Given the description of an element on the screen output the (x, y) to click on. 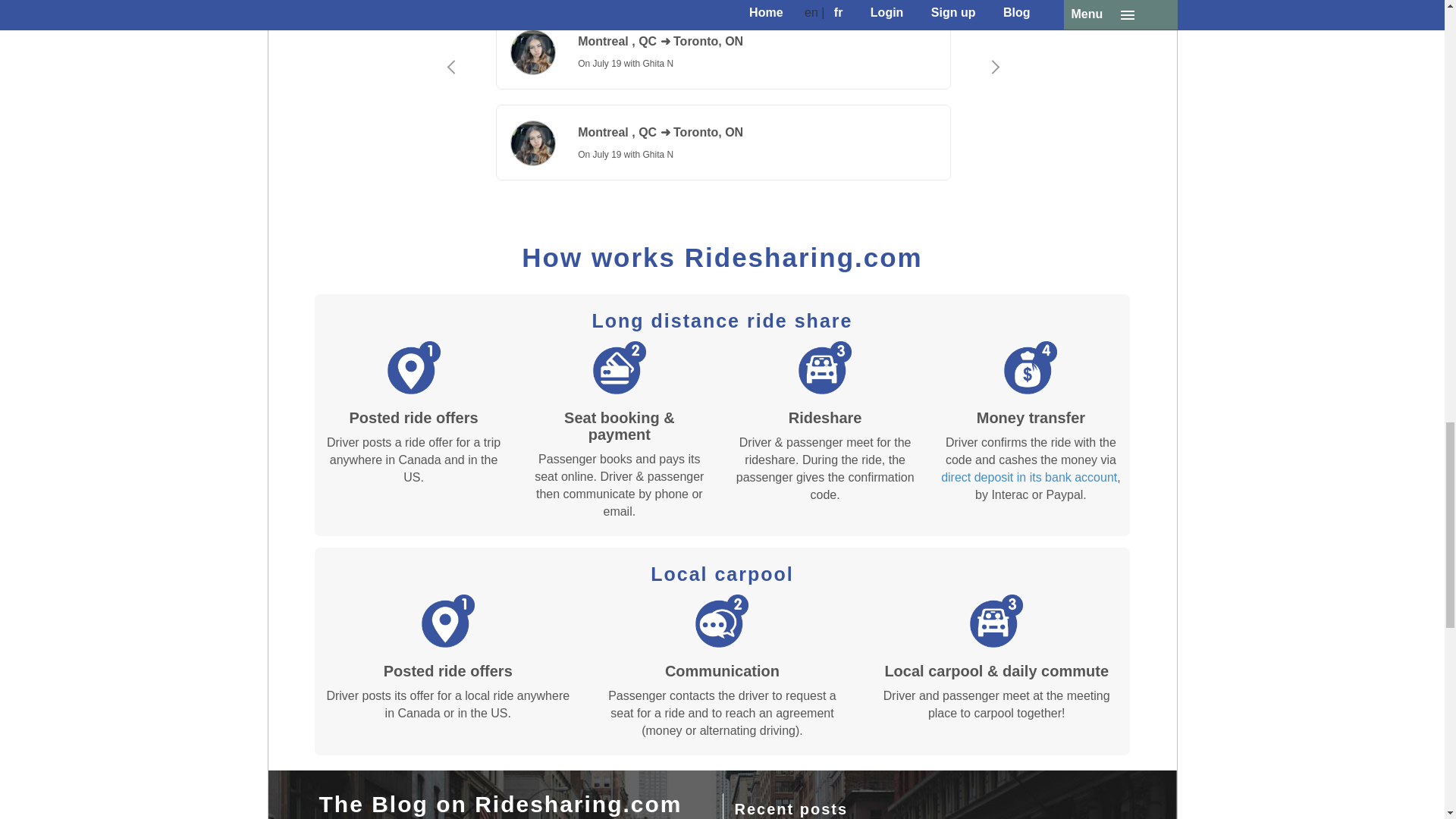
Previous (449, 103)
Next (994, 103)
direct deposit in its bank account (1028, 477)
